Given the description of an element on the screen output the (x, y) to click on. 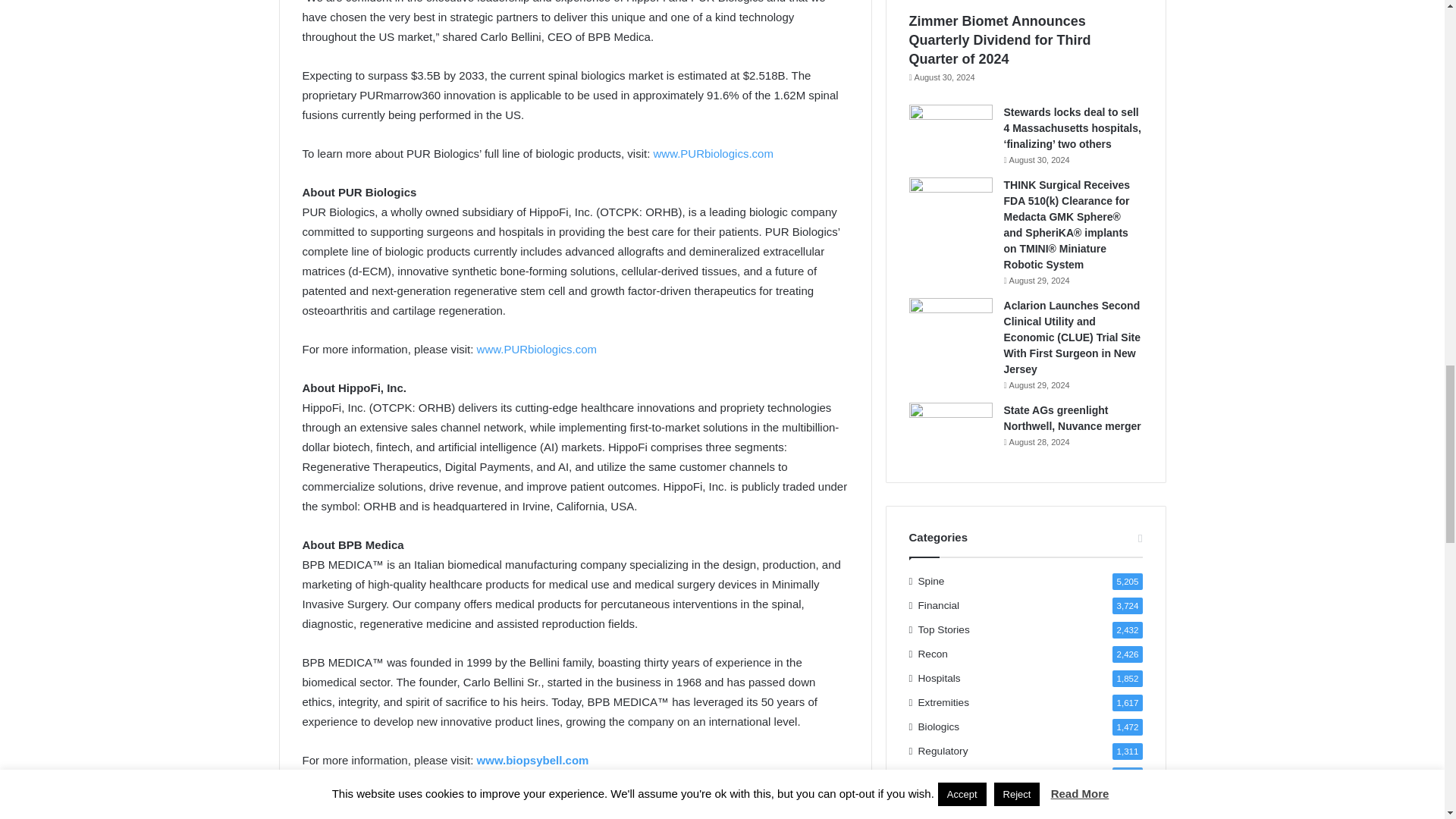
PURbiologics.com (726, 153)
www.biopsybell.com (533, 759)
www. (667, 153)
www.PURbiologics.com (536, 349)
